Given the description of an element on the screen output the (x, y) to click on. 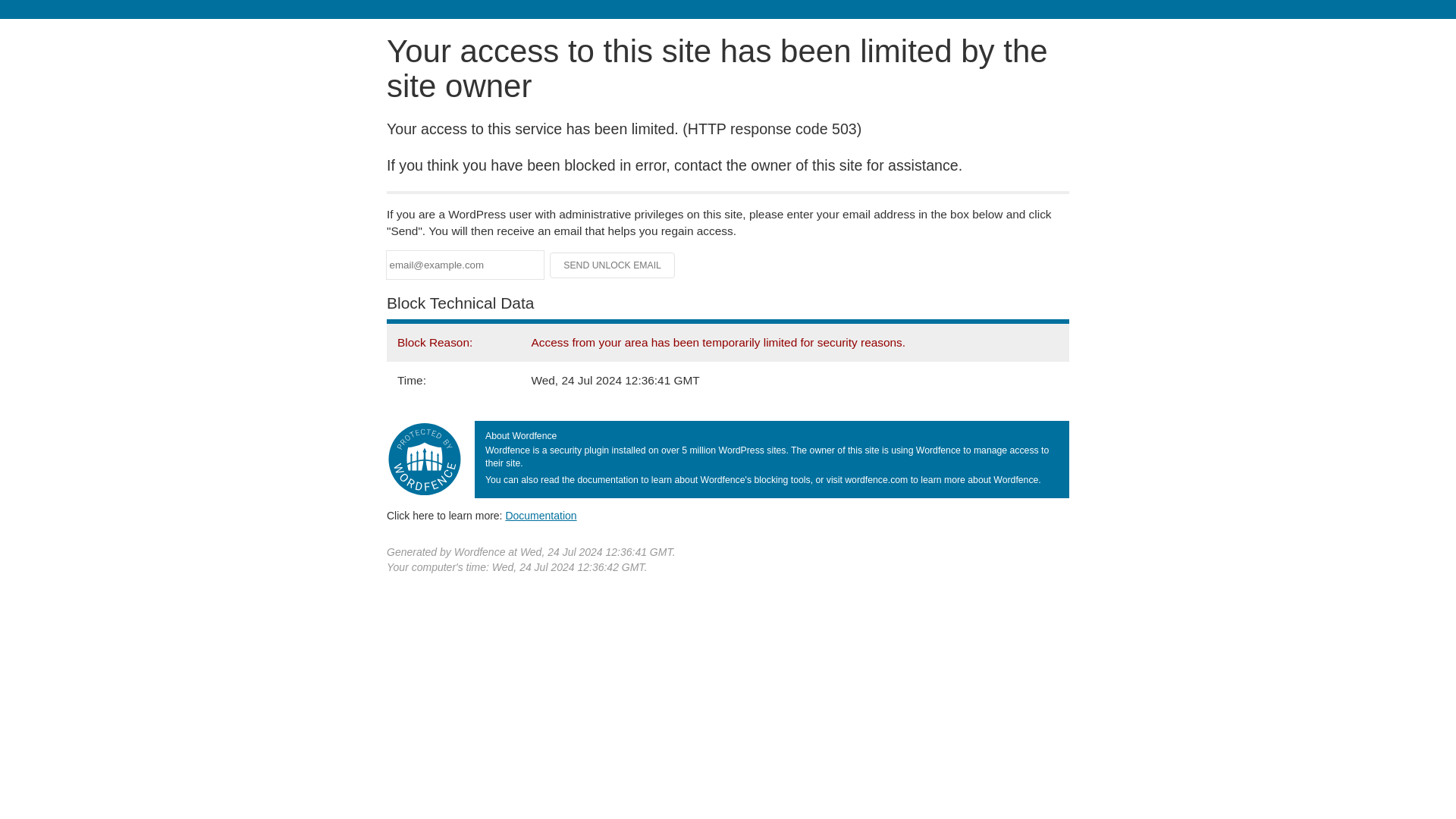
Documentation (540, 515)
Send Unlock Email (612, 265)
Send Unlock Email (612, 265)
